Given the description of an element on the screen output the (x, y) to click on. 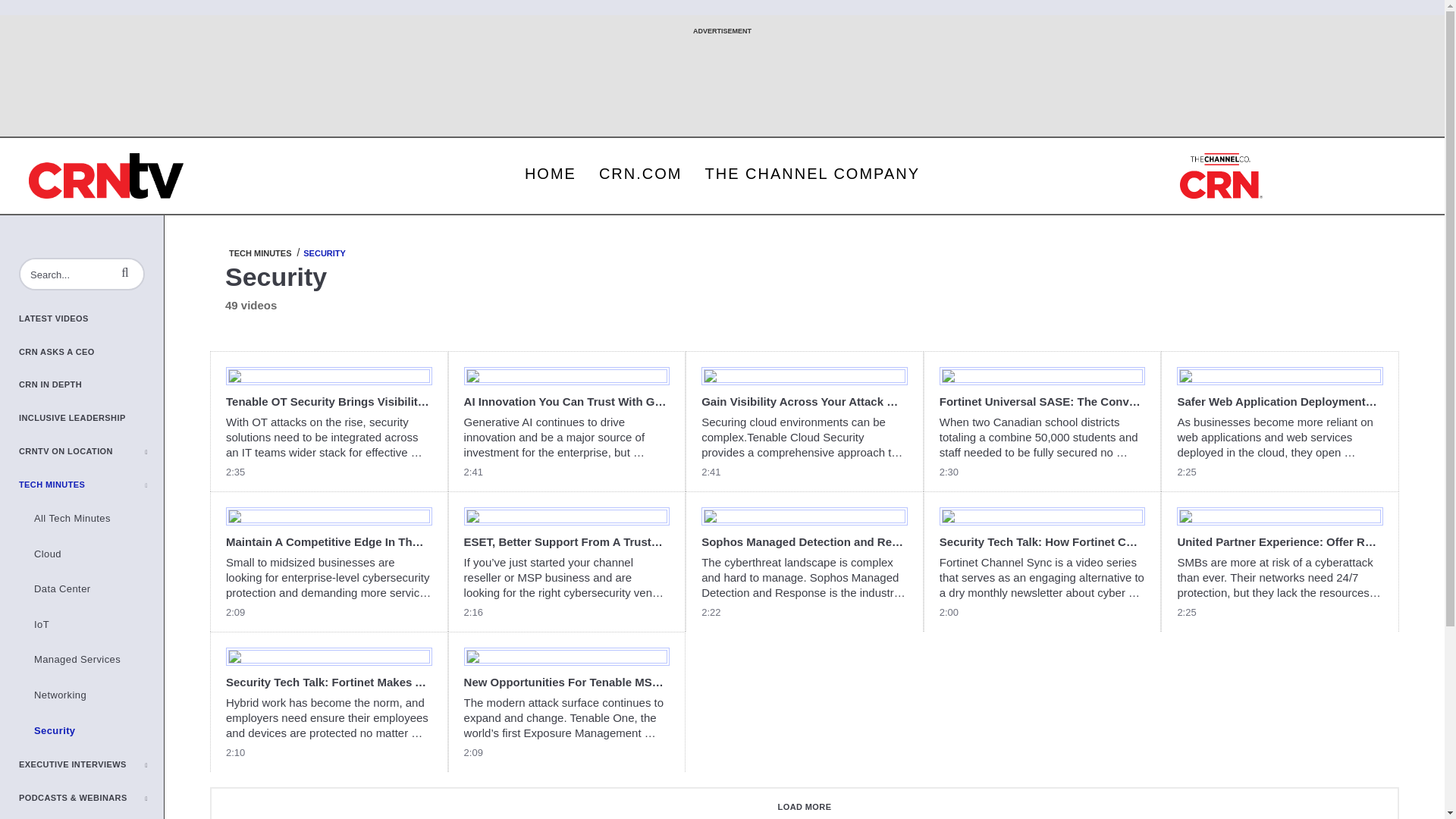
LATEST VIDEOS (90, 318)
CRN.COM (641, 173)
Managed Services (90, 660)
Cloud (90, 554)
CRN IN DEPTH (90, 385)
HOME (550, 173)
THE CHANNEL COMPANY (812, 173)
All Tech Minutes (90, 519)
CRN ASKS A CEO (90, 352)
INCLUSIVE LEADERSHIP (90, 418)
IoT (90, 624)
CRN (1220, 176)
The Channel Company and CRNtv (106, 176)
Security (90, 731)
Networking (90, 695)
